Given the description of an element on the screen output the (x, y) to click on. 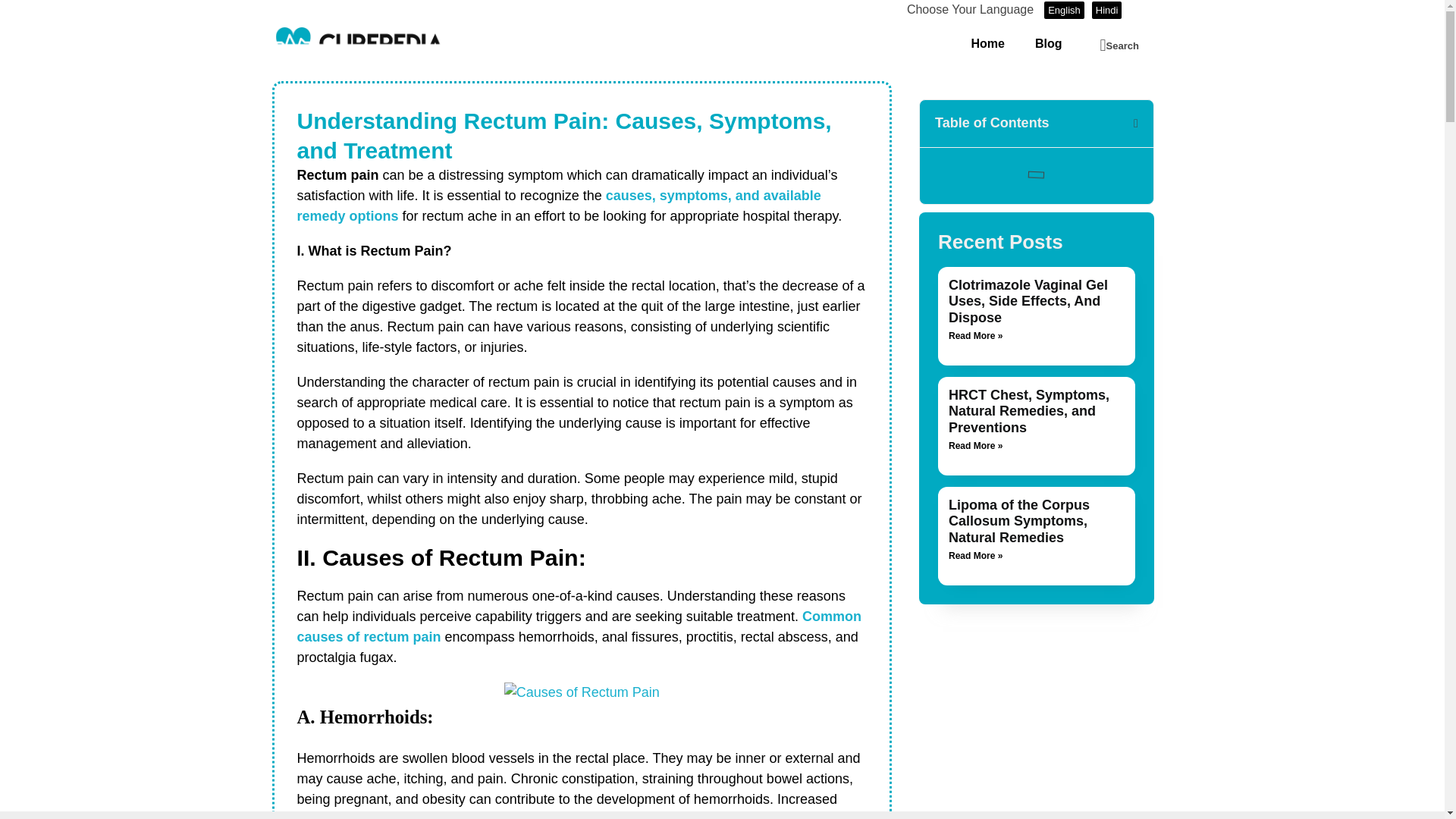
Home (987, 43)
Clotrimazole Vaginal Gel Uses, Side Effects, And Dispose (1028, 301)
causes, symptoms, and available remedy options (559, 205)
Common causes of rectum pain (579, 626)
Search (1118, 45)
Blog (1048, 43)
English (1063, 9)
Hindi (1107, 9)
HRCT Chest, Symptoms, Natural Remedies, and Preventions (1029, 410)
Lipoma of the Corpus Callosum Symptoms, Natural Remedies (1019, 521)
